Given the description of an element on the screen output the (x, y) to click on. 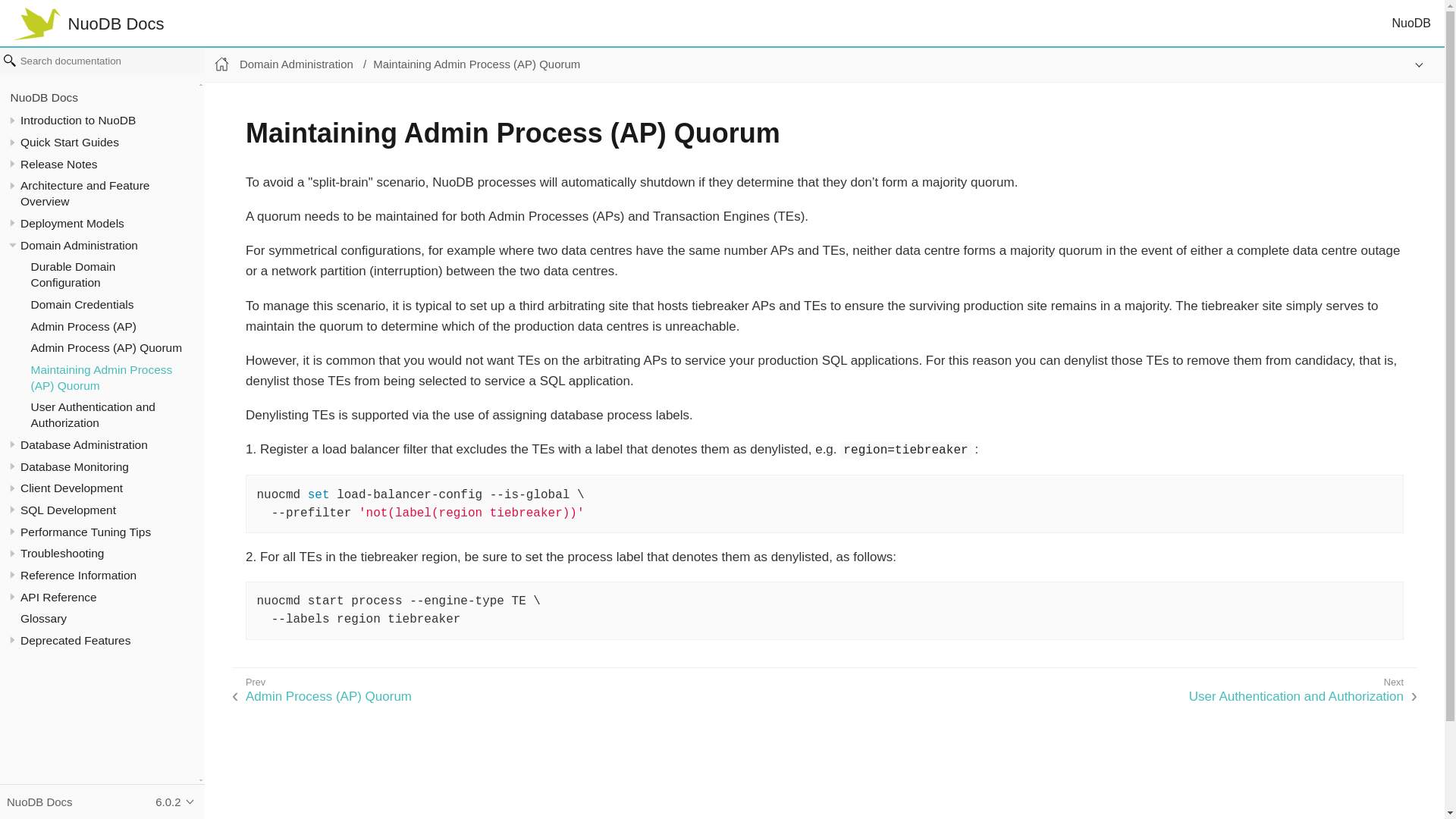
Architecture and Feature Overview (84, 193)
NuoDB Docs (88, 23)
Release Notes (58, 164)
NuoDB Docs (44, 97)
Introduction to NuoDB (77, 119)
Show other versions of page (1413, 64)
Quick Start Guides (69, 141)
